Given the description of an element on the screen output the (x, y) to click on. 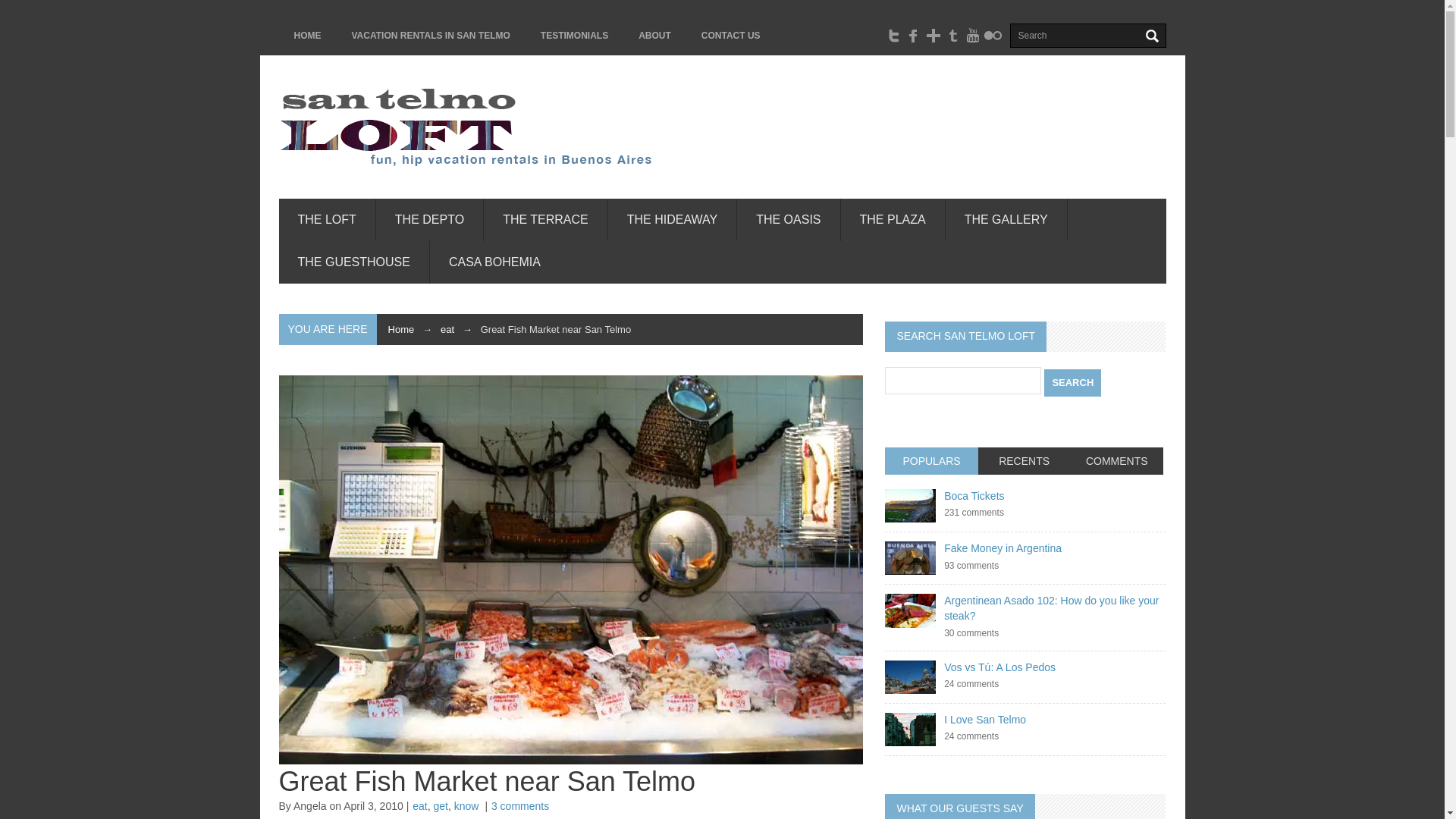
THE DEPTO (429, 219)
ABOUT (654, 35)
THE LOFT (327, 219)
HOME (307, 35)
TESTIMONIALS (574, 35)
CASA BOHEMIA (494, 261)
THE HIDEAWAY (672, 219)
Search (1071, 382)
Home (401, 328)
get (440, 806)
